Given the description of an element on the screen output the (x, y) to click on. 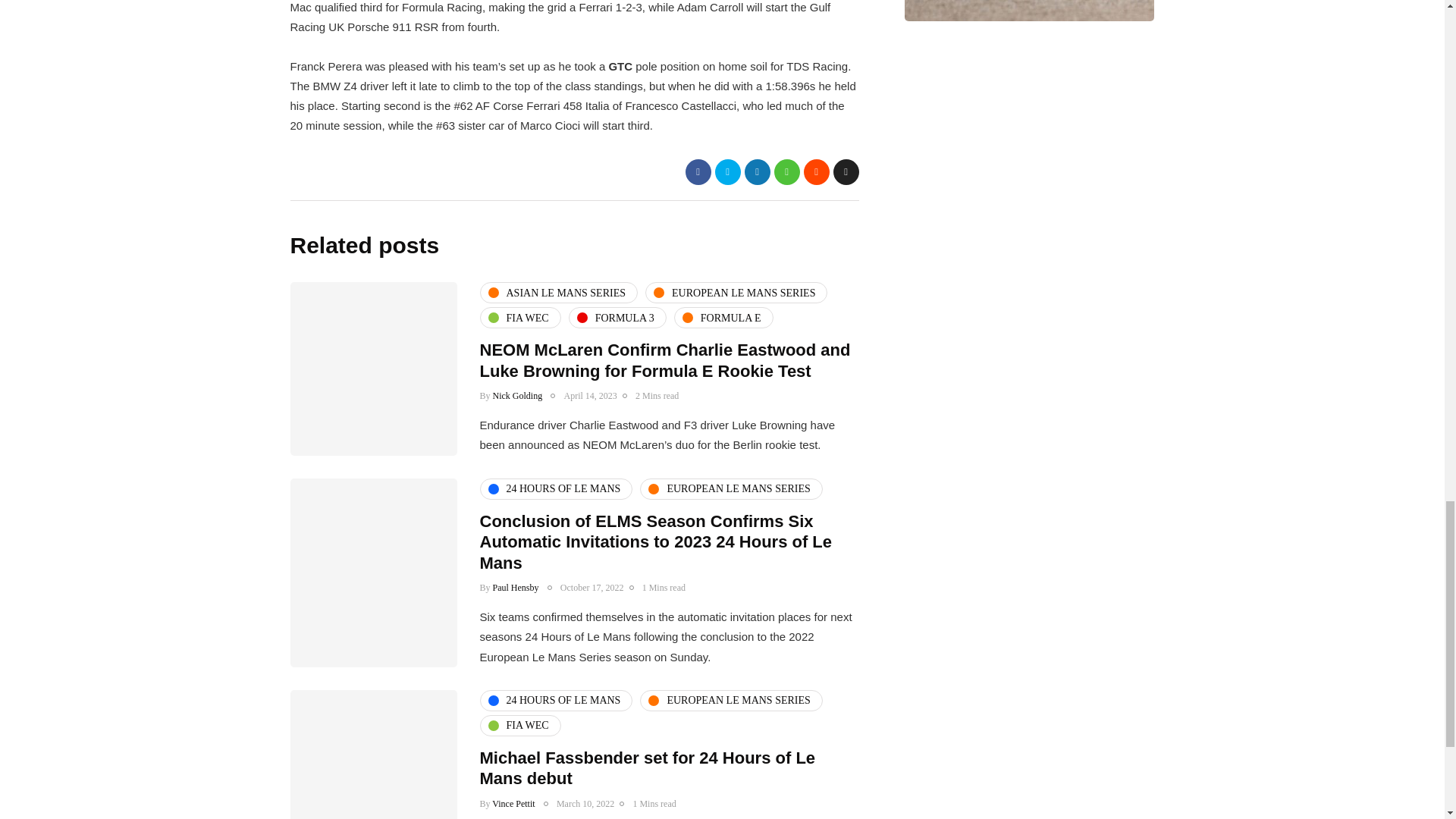
Tweet this (726, 171)
Posts by Nick Golding (518, 395)
Share with Facebook (698, 171)
Share with LinkedIn (757, 171)
Share by Email (845, 171)
Share on Reddit (816, 171)
Share to WhatsApp (786, 171)
